Given the description of an element on the screen output the (x, y) to click on. 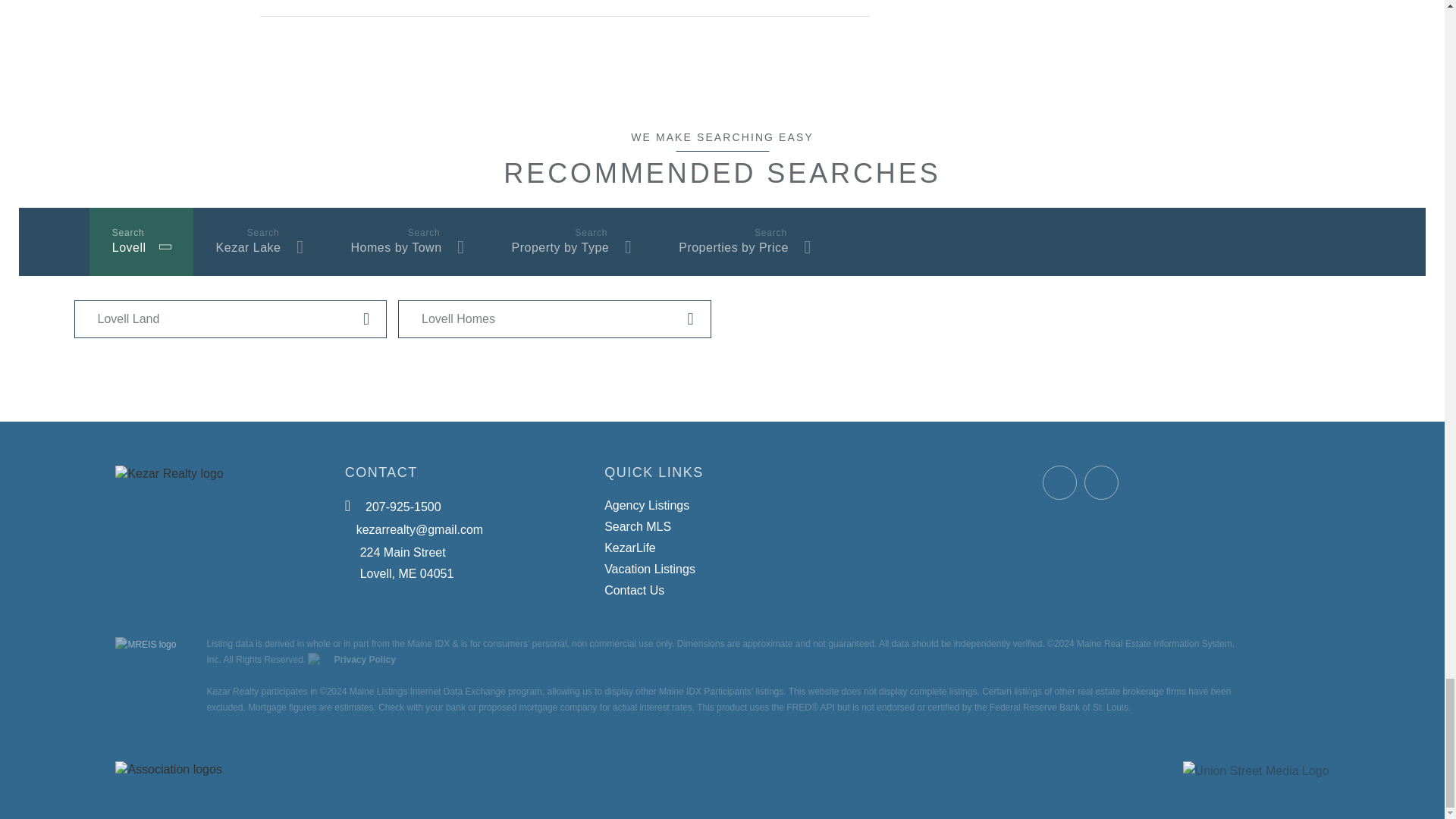
Lovell Land (230, 319)
Lovell Homes (554, 319)
